Given the description of an element on the screen output the (x, y) to click on. 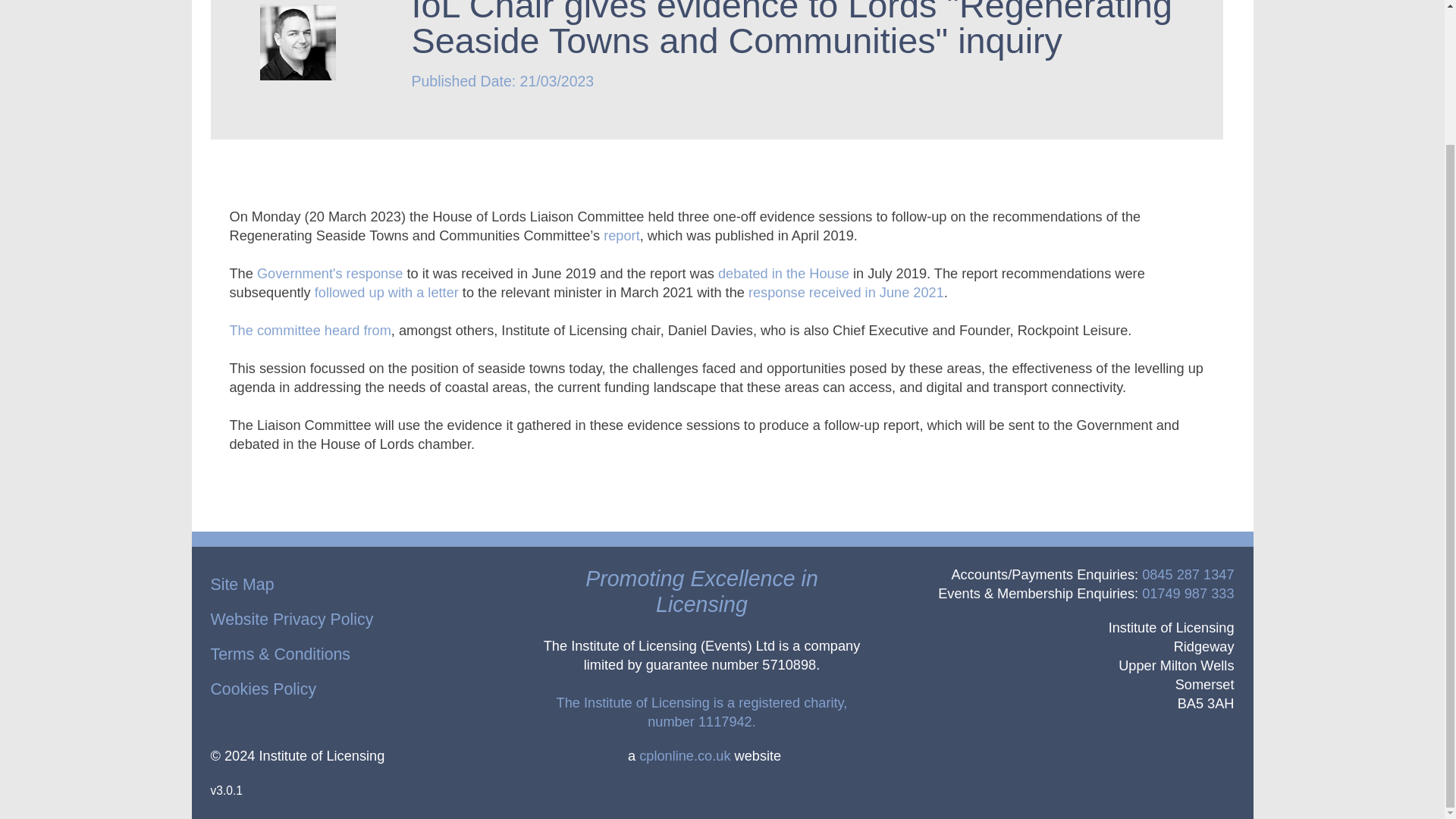
cplonline.co.uk (684, 755)
followed up with a letter (386, 292)
debated in the House (782, 273)
response received in June 2021 (845, 292)
report (622, 235)
Site Map (243, 584)
Cookies Policy (264, 689)
Website Privacy Policy (292, 619)
Government's response (330, 273)
The committee heard from (309, 330)
